Given the description of an element on the screen output the (x, y) to click on. 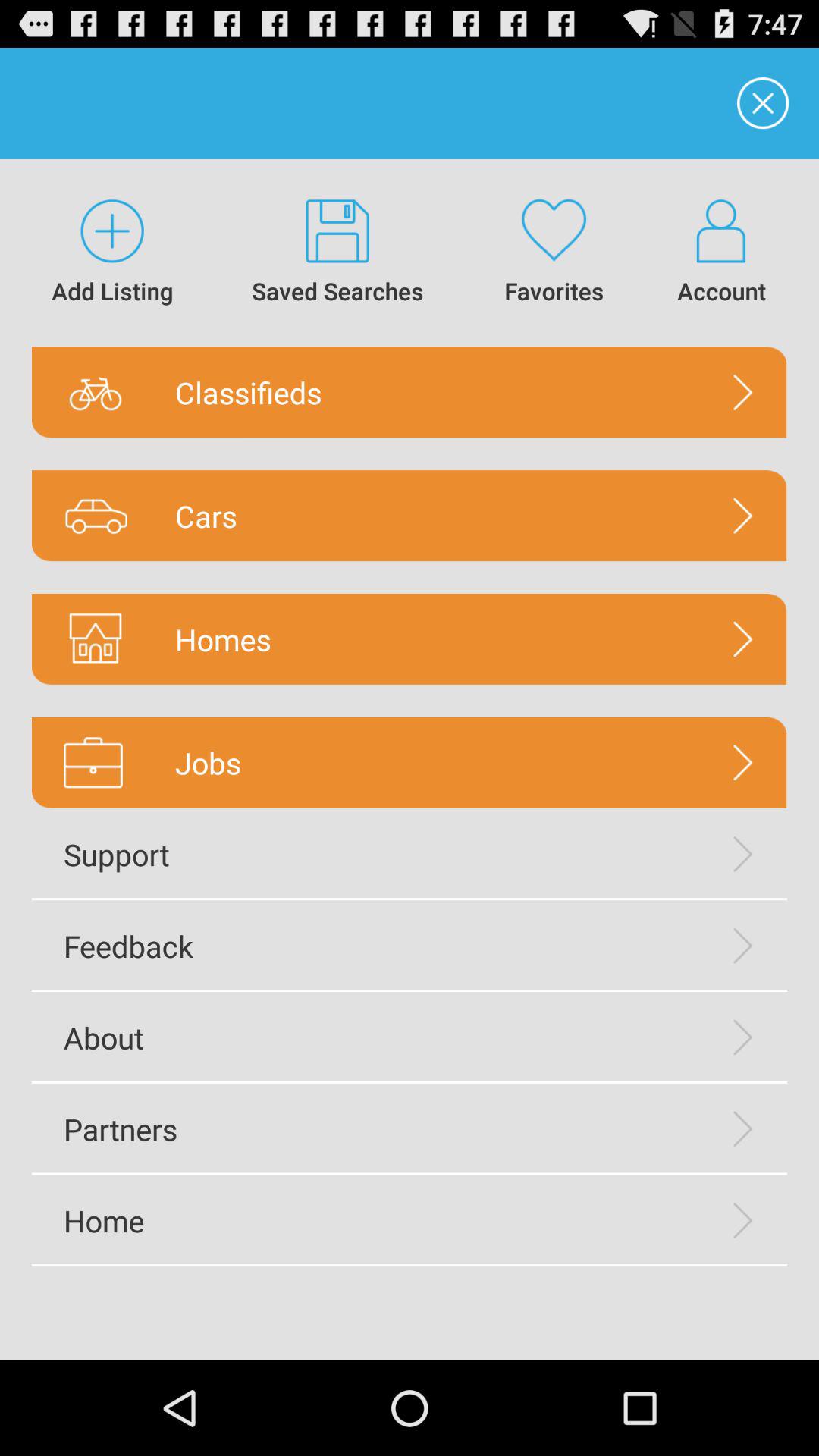
press icon next to the favorites icon (337, 253)
